Given the description of an element on the screen output the (x, y) to click on. 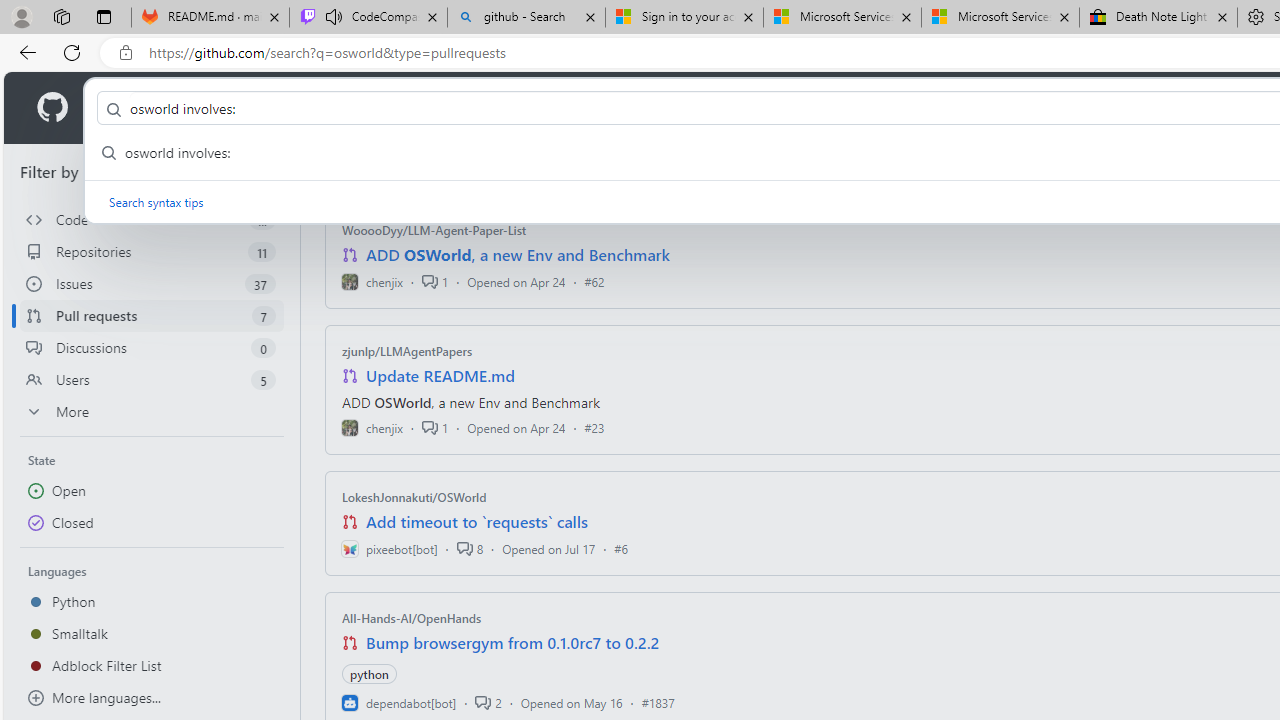
LokeshJonnakuti/OSWorld (413, 497)
Homepage (51, 107)
WooooDyy/LLM-Agent-Paper-List (434, 230)
Enterprise (563, 107)
ADD OSWorld, a new Env and Benchmark (517, 255)
1 (435, 427)
